Given the description of an element on the screen output the (x, y) to click on. 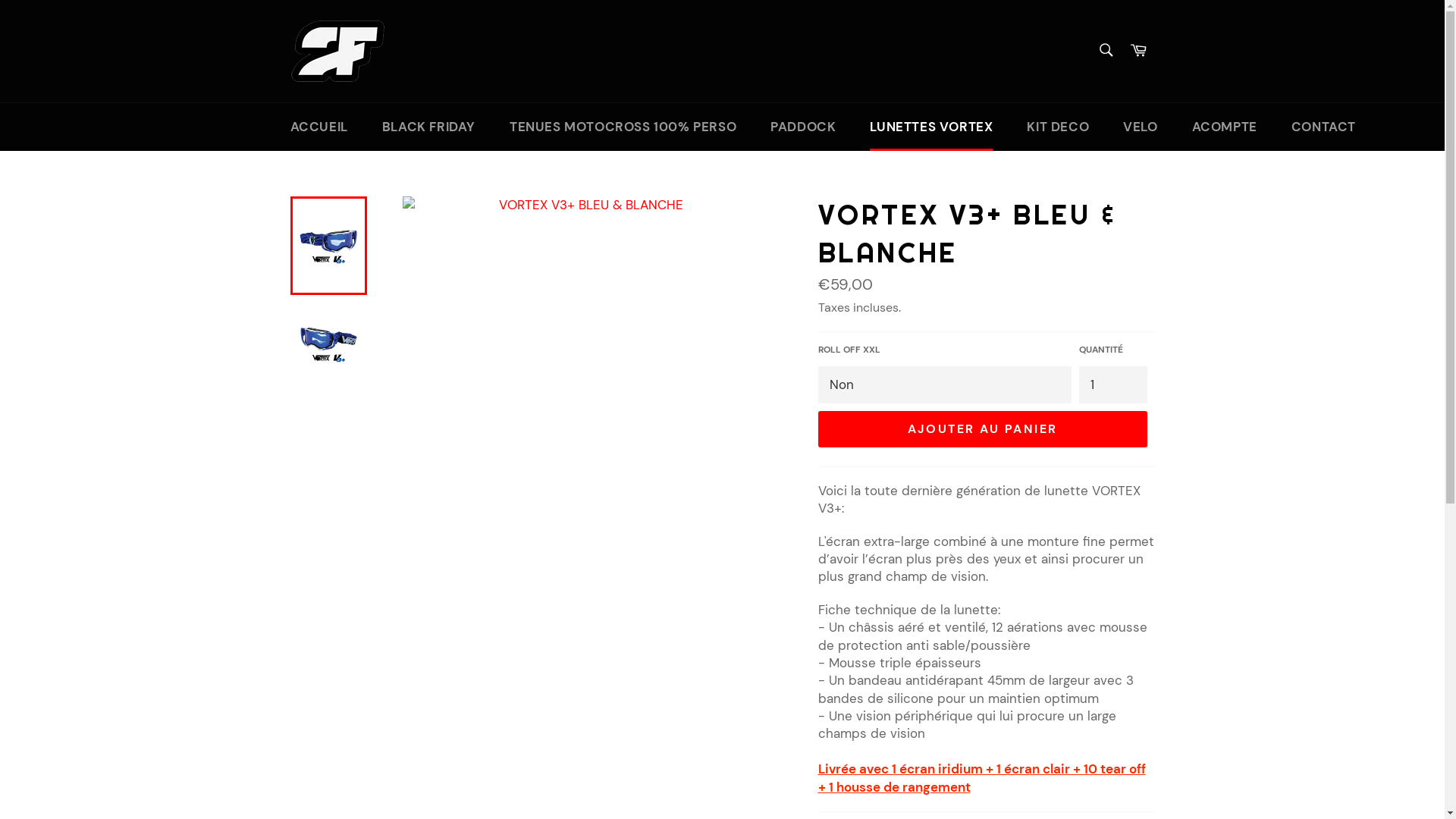
VELO Element type: text (1139, 126)
ACCUEIL Element type: text (318, 126)
CONTACT Element type: text (1323, 126)
AJOUTER AU PANIER Element type: text (981, 429)
Recherche Element type: text (1105, 49)
PADDOCK Element type: text (802, 126)
ACOMPTE Element type: text (1224, 126)
BLACK FRIDAY Element type: text (428, 126)
TENUES MOTOCROSS 100% PERSO Element type: text (622, 126)
KIT DECO Element type: text (1057, 126)
Panier Element type: text (1138, 51)
LUNETTES VORTEX Element type: text (930, 126)
